Given the description of an element on the screen output the (x, y) to click on. 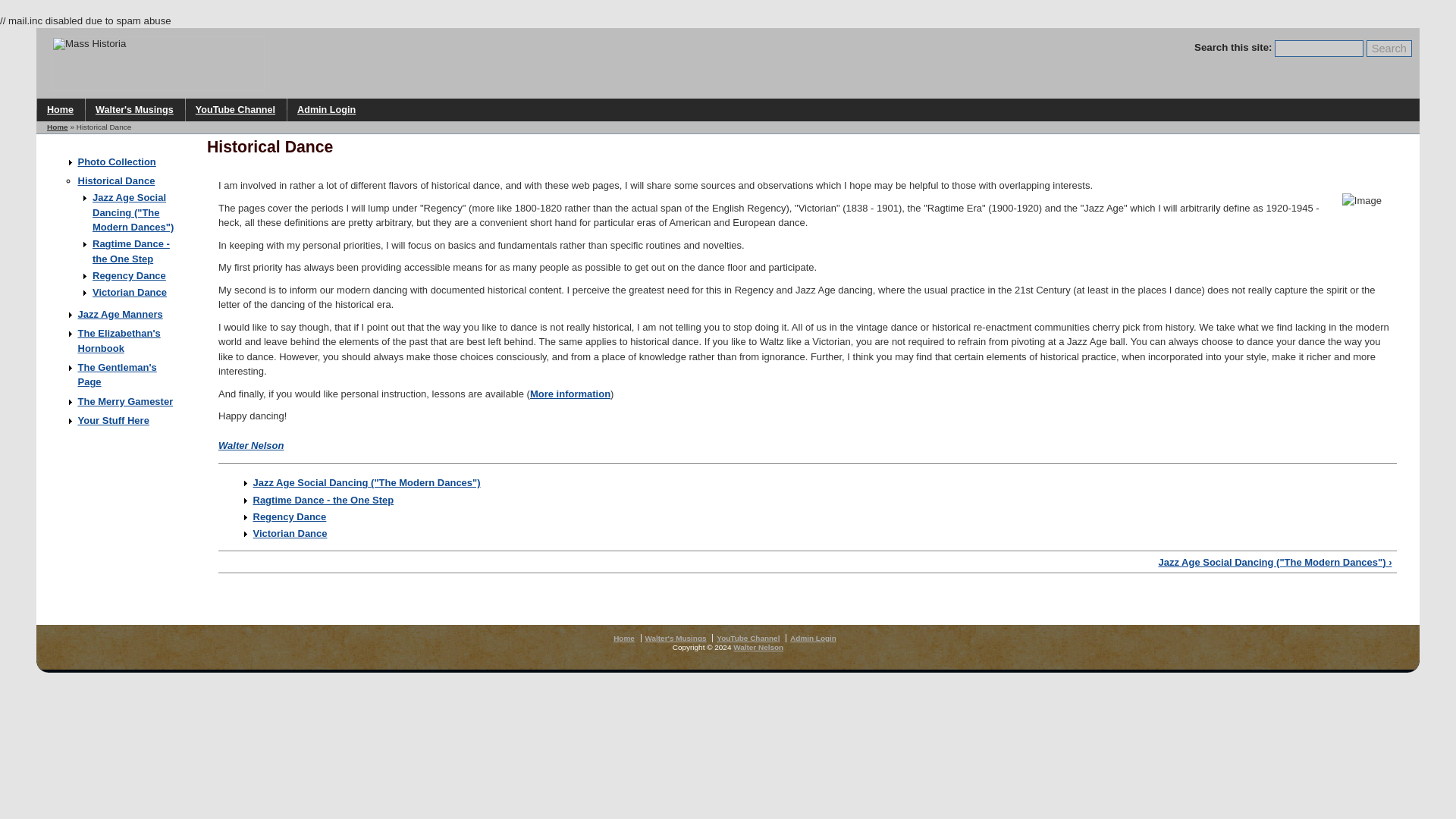
Regency Dance (289, 516)
Ragtime Dance - the One Step (323, 500)
Victorian Dance (130, 292)
Photo Collection (116, 161)
Walter Nelson's Blog (134, 109)
More information (569, 393)
Victorian Dance (290, 532)
Ragtime Dance - the One Step (131, 251)
Contributors log in here (326, 109)
Search (1389, 48)
